Given the description of an element on the screen output the (x, y) to click on. 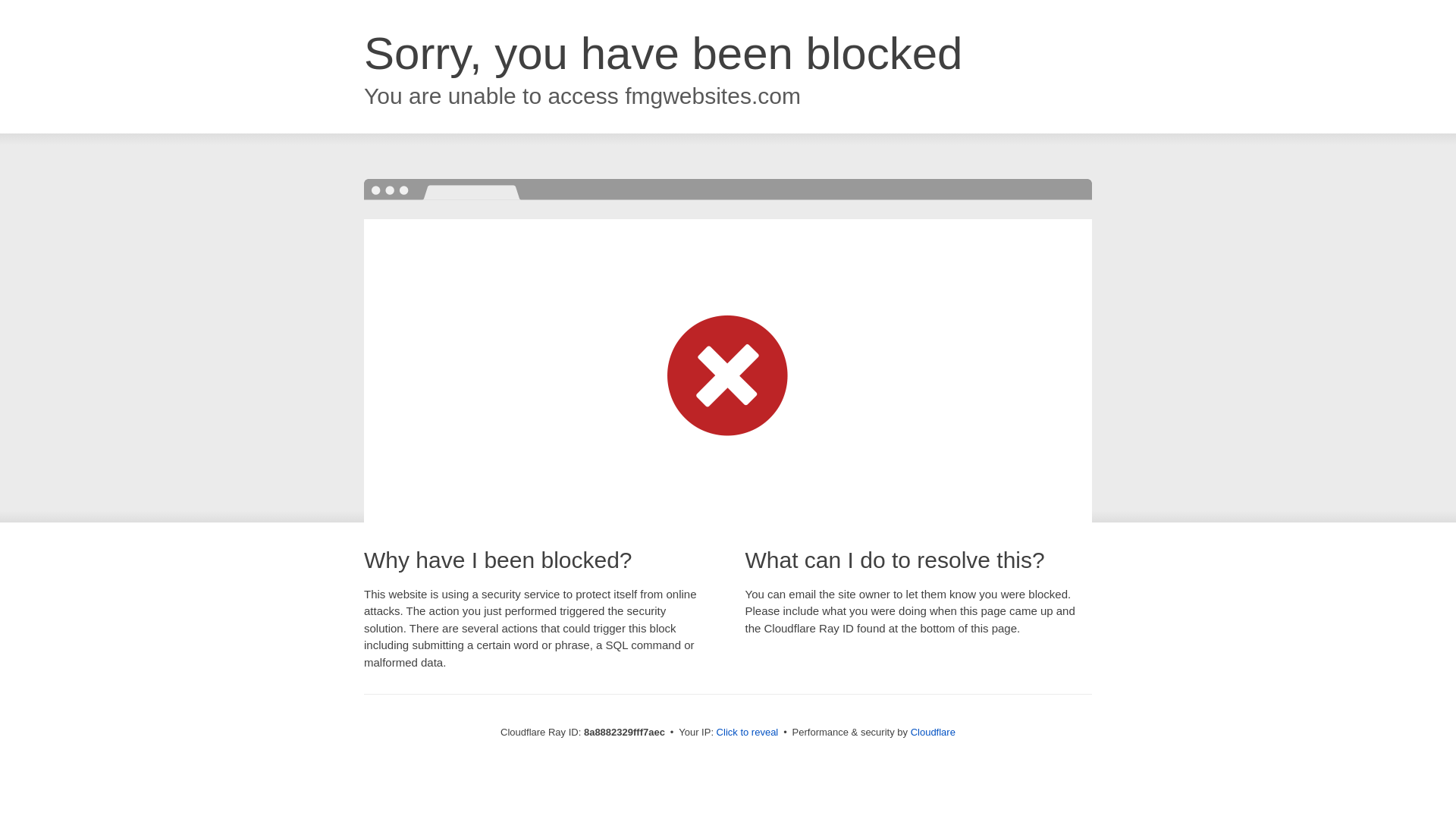
Click to reveal (747, 732)
Cloudflare (933, 731)
